Given the description of an element on the screen output the (x, y) to click on. 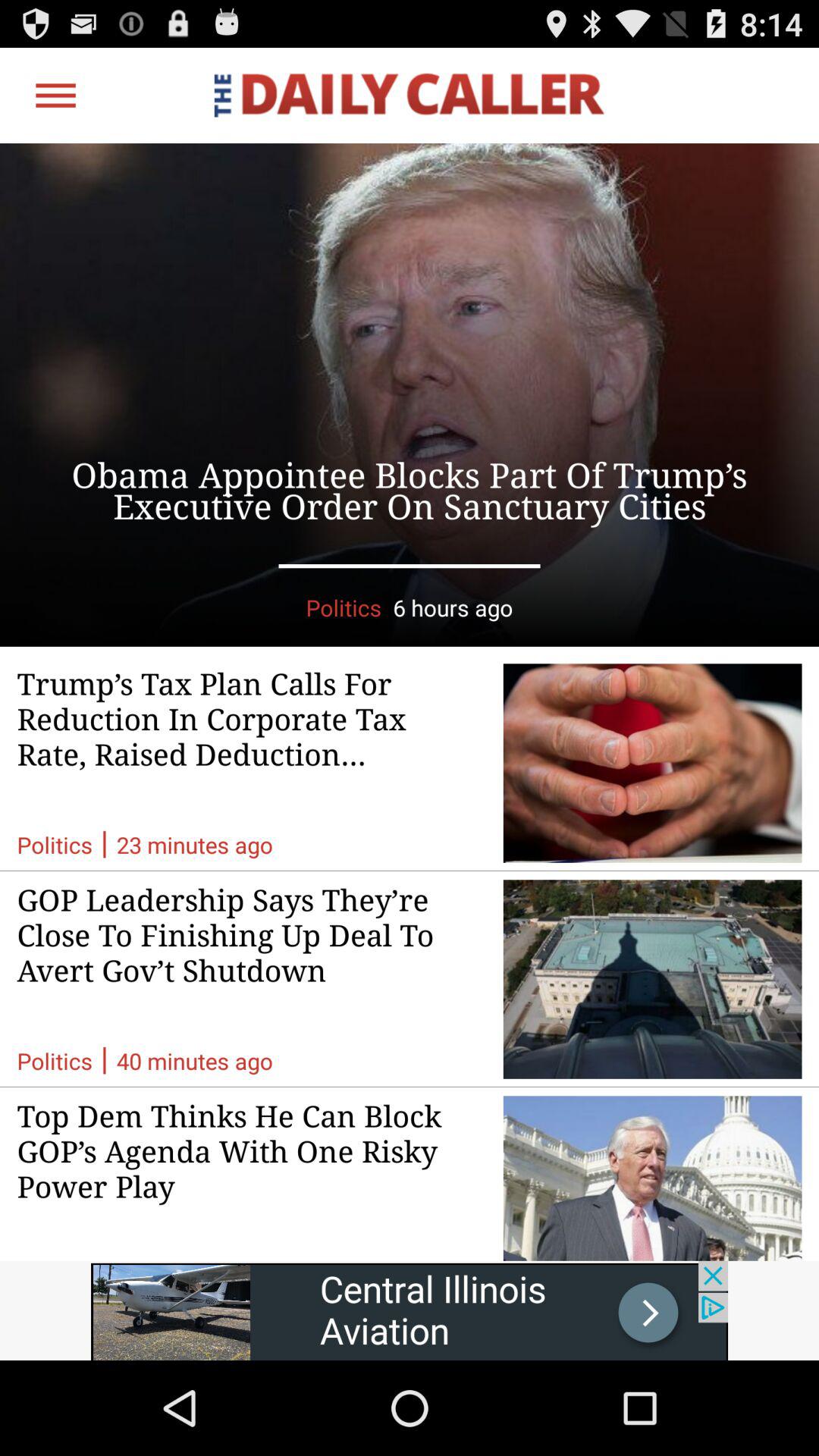
open options (55, 95)
